Given the description of an element on the screen output the (x, y) to click on. 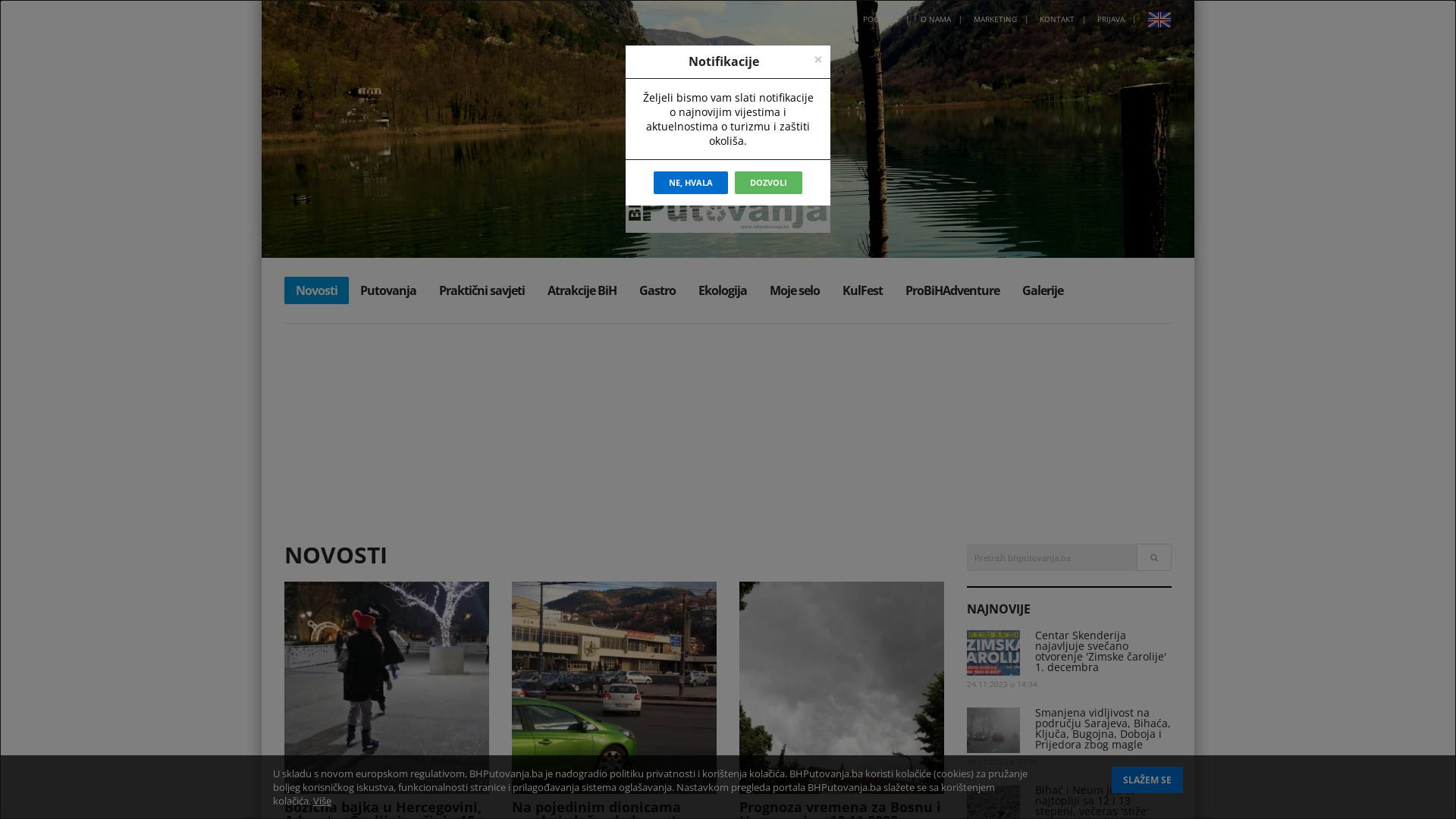
KONTAKT Element type: text (1056, 18)
KulFest Element type: text (862, 290)
Novosti Element type: text (316, 290)
ProBiHAdventure Element type: text (952, 290)
Moje selo Element type: text (794, 290)
MARKETING Element type: text (994, 18)
Putovanja Element type: text (388, 290)
DOZVOLI Element type: text (768, 182)
Atrakcije BiH Element type: text (581, 290)
PRIJAVA Element type: text (1110, 18)
NE, HVALA Element type: text (690, 182)
O NAMA Element type: text (935, 18)
Galerije Element type: text (1042, 290)
Gastro Element type: text (657, 290)
3rd party ad content Element type: hover (731, 418)
Ekologija Element type: text (722, 290)
